Given the description of an element on the screen output the (x, y) to click on. 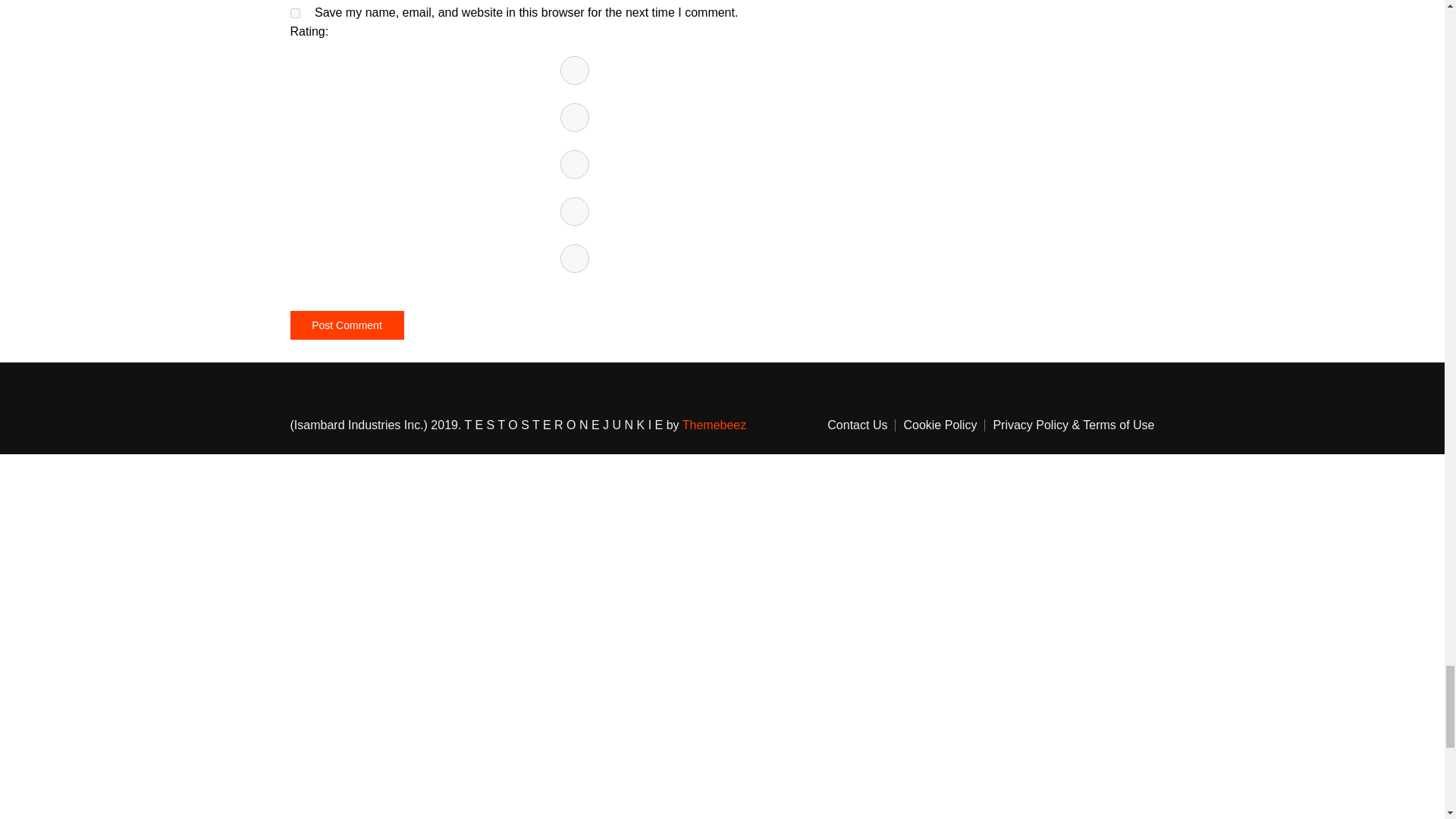
yes (294, 13)
2 (574, 117)
Post Comment (346, 325)
1 (574, 70)
4 (574, 211)
3 (574, 164)
5 (574, 258)
